Given the description of an element on the screen output the (x, y) to click on. 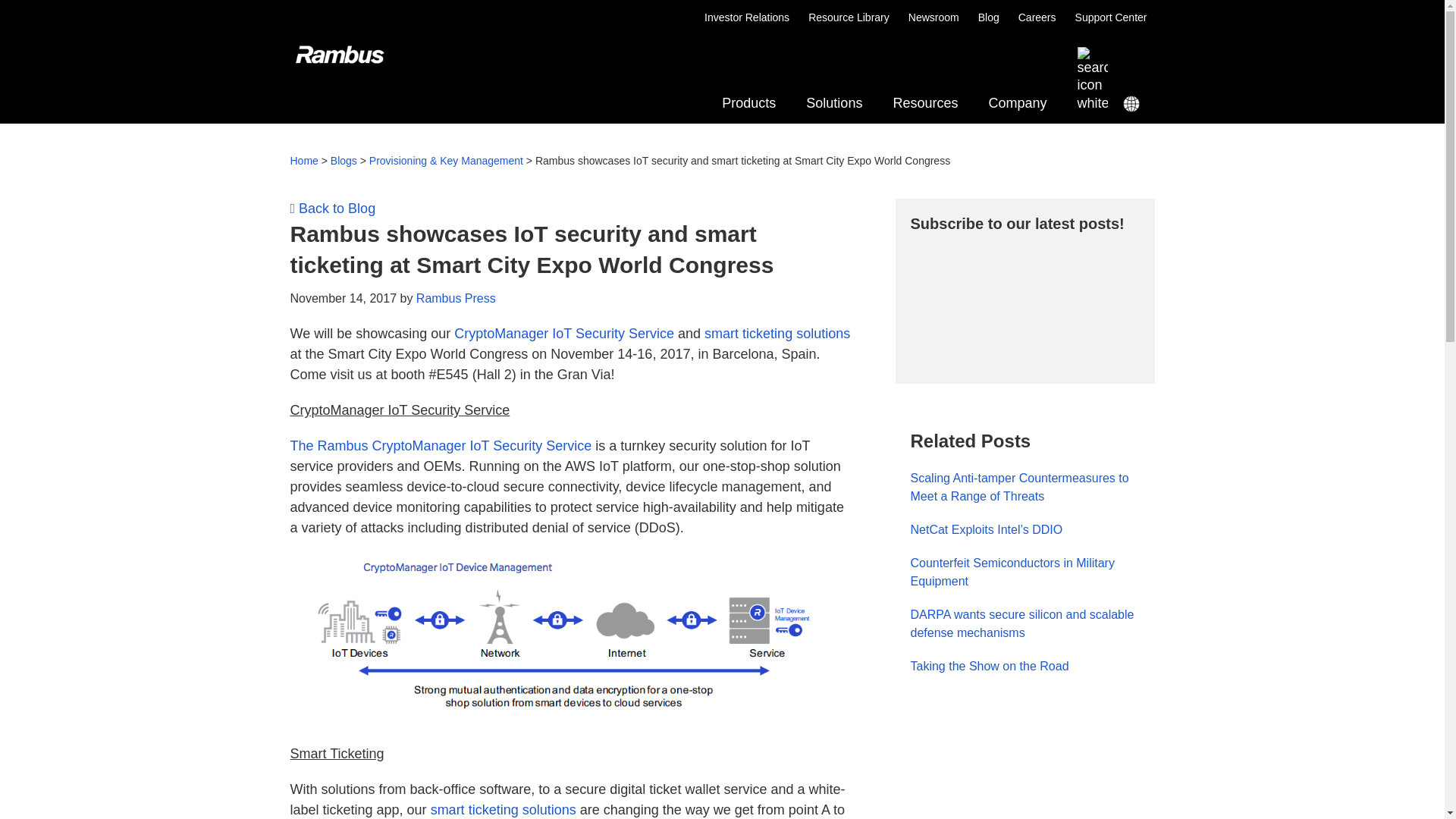
Investor Relations (746, 17)
Newsroom (933, 17)
Resource Library (848, 17)
Permanent Link toTaking the Show on the Road (721, 79)
Support Center (989, 666)
